Given the description of an element on the screen output the (x, y) to click on. 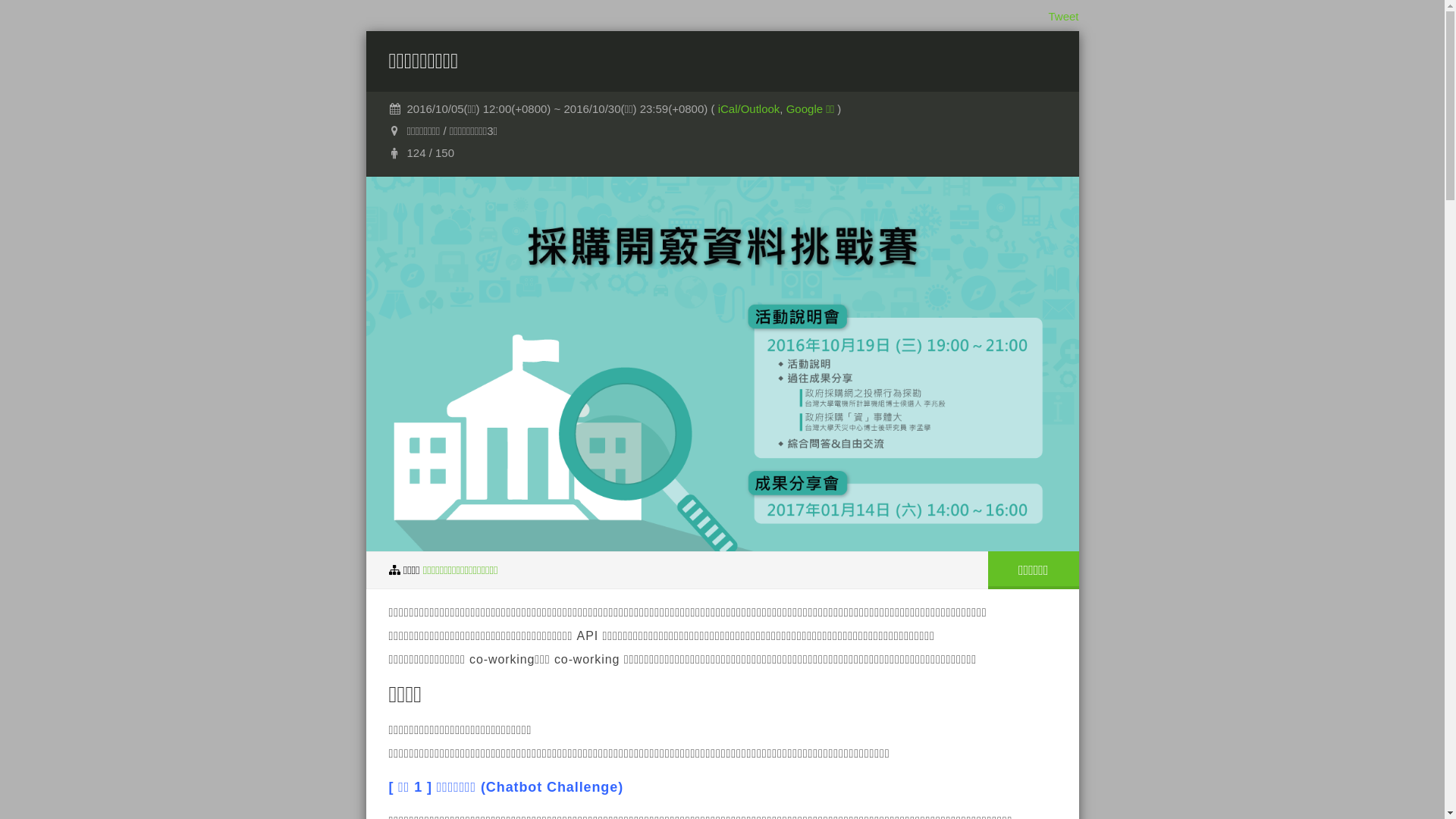
Tweet Element type: text (1063, 15)
iCal/Outlook Element type: text (749, 108)
